Given the description of an element on the screen output the (x, y) to click on. 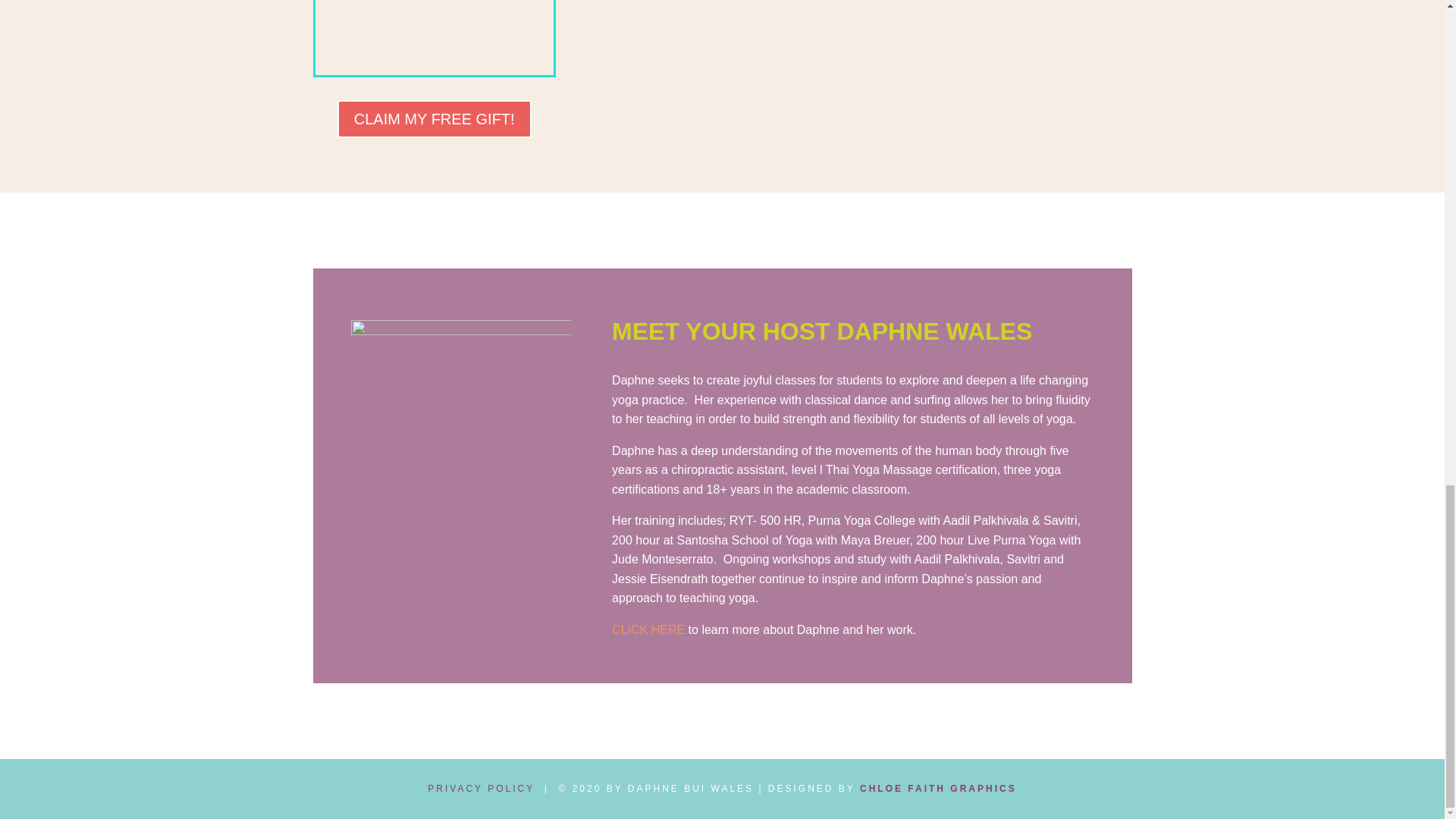
CHLOE FAITH GRAPHICS (938, 787)
Maya-Breuer (434, 37)
PRIVACY POLICY (481, 787)
CLICK HERE (647, 629)
CLAIM MY FREE GIFT! (434, 118)
